Given the description of an element on the screen output the (x, y) to click on. 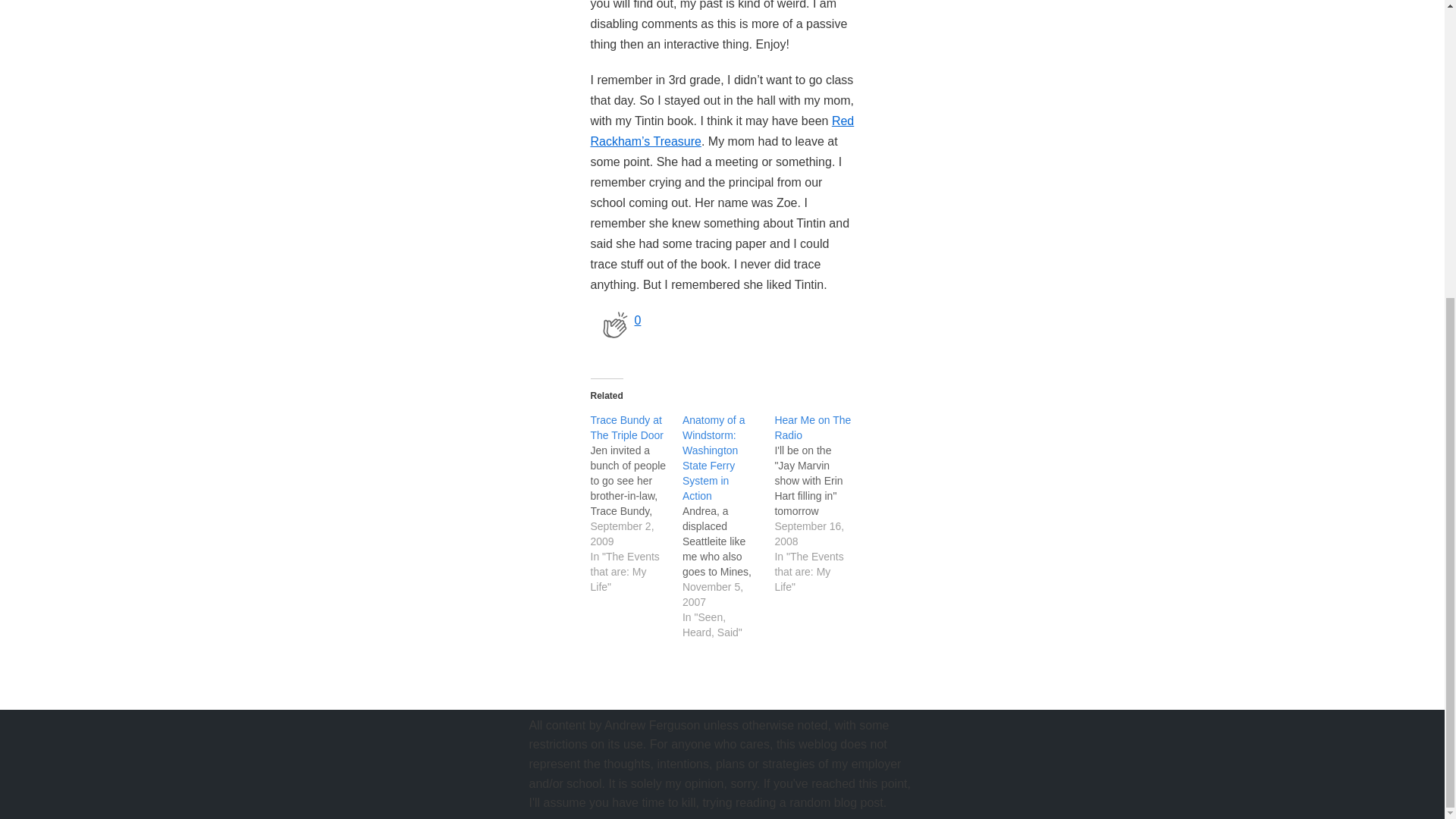
Trace Bundy at The Triple Door (625, 427)
Trace Bundy at The Triple Door (625, 427)
Hear Me on The Radio (812, 427)
0 (614, 325)
